Given the description of an element on the screen output the (x, y) to click on. 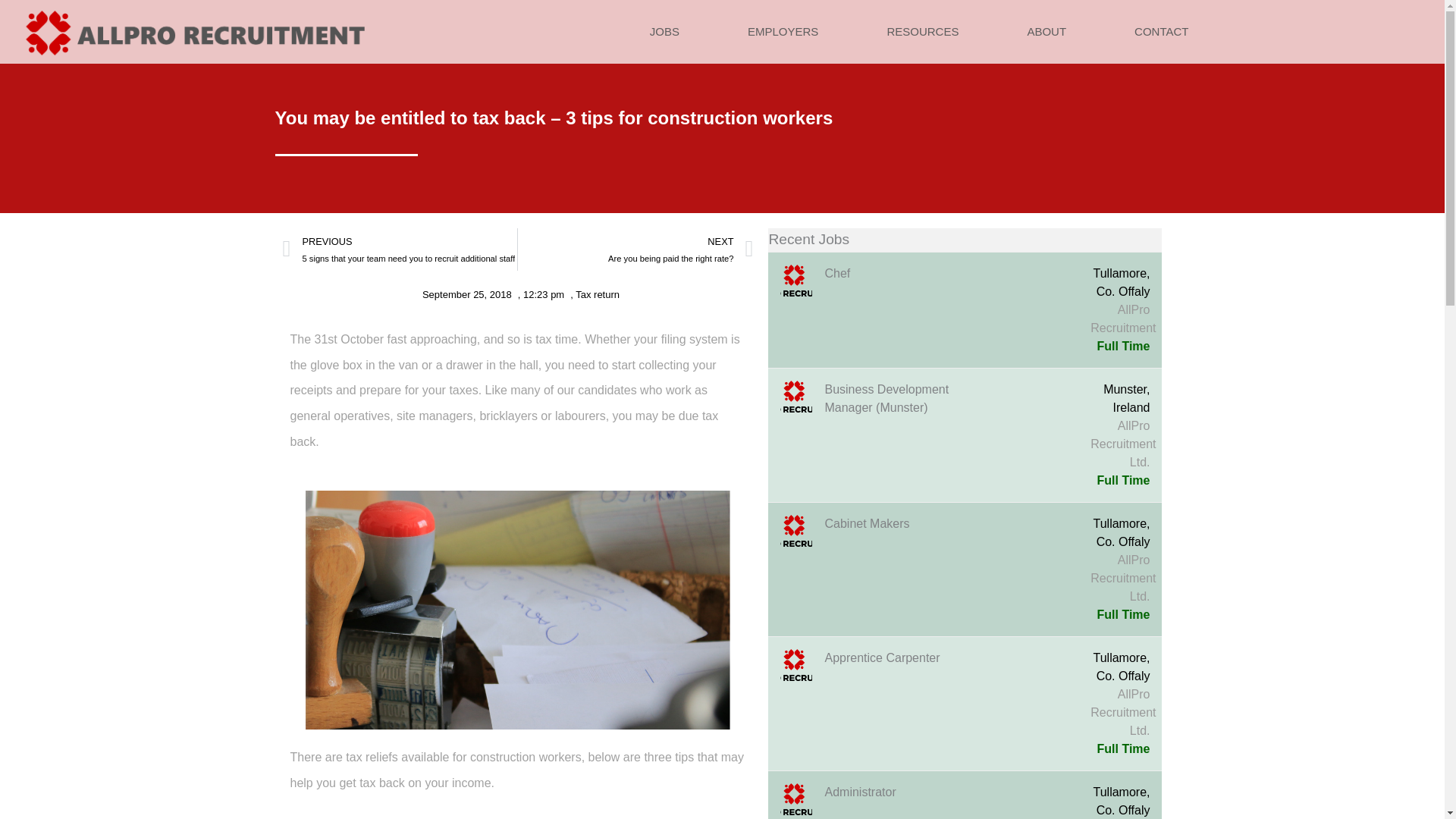
JOBS (664, 31)
ABOUT (1046, 31)
RESOURCES (922, 31)
EMPLOYERS (782, 31)
CONTACT (1161, 31)
